Given the description of an element on the screen output the (x, y) to click on. 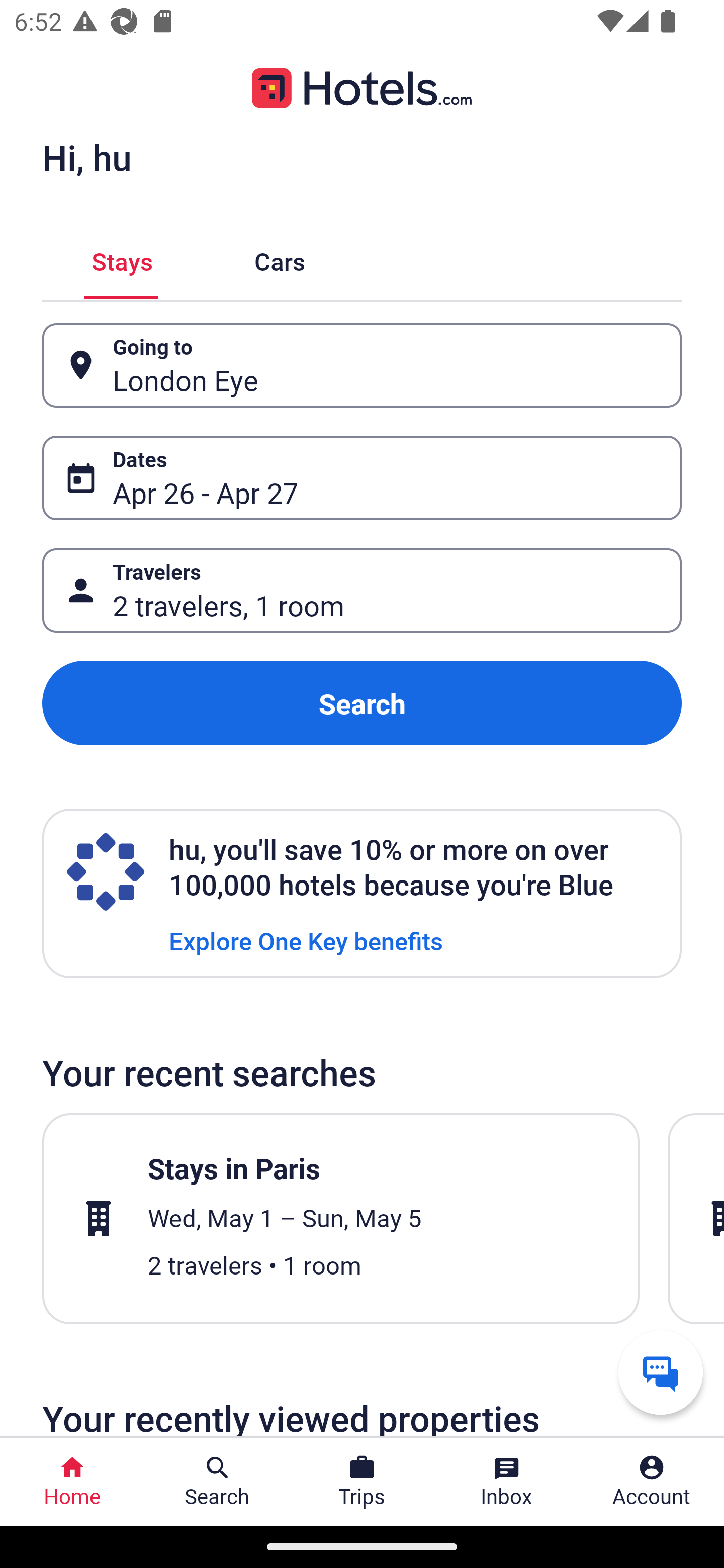
Hi, hu (86, 156)
Cars (279, 259)
Going to Button London Eye (361, 365)
Dates Button Apr 26 - Apr 27 (361, 477)
Travelers Button 2 travelers, 1 room (361, 590)
Search (361, 702)
Get help from a virtual agent (660, 1371)
Search Search Button (216, 1481)
Trips Trips Button (361, 1481)
Inbox Inbox Button (506, 1481)
Account Profile. Button (651, 1481)
